Given the description of an element on the screen output the (x, y) to click on. 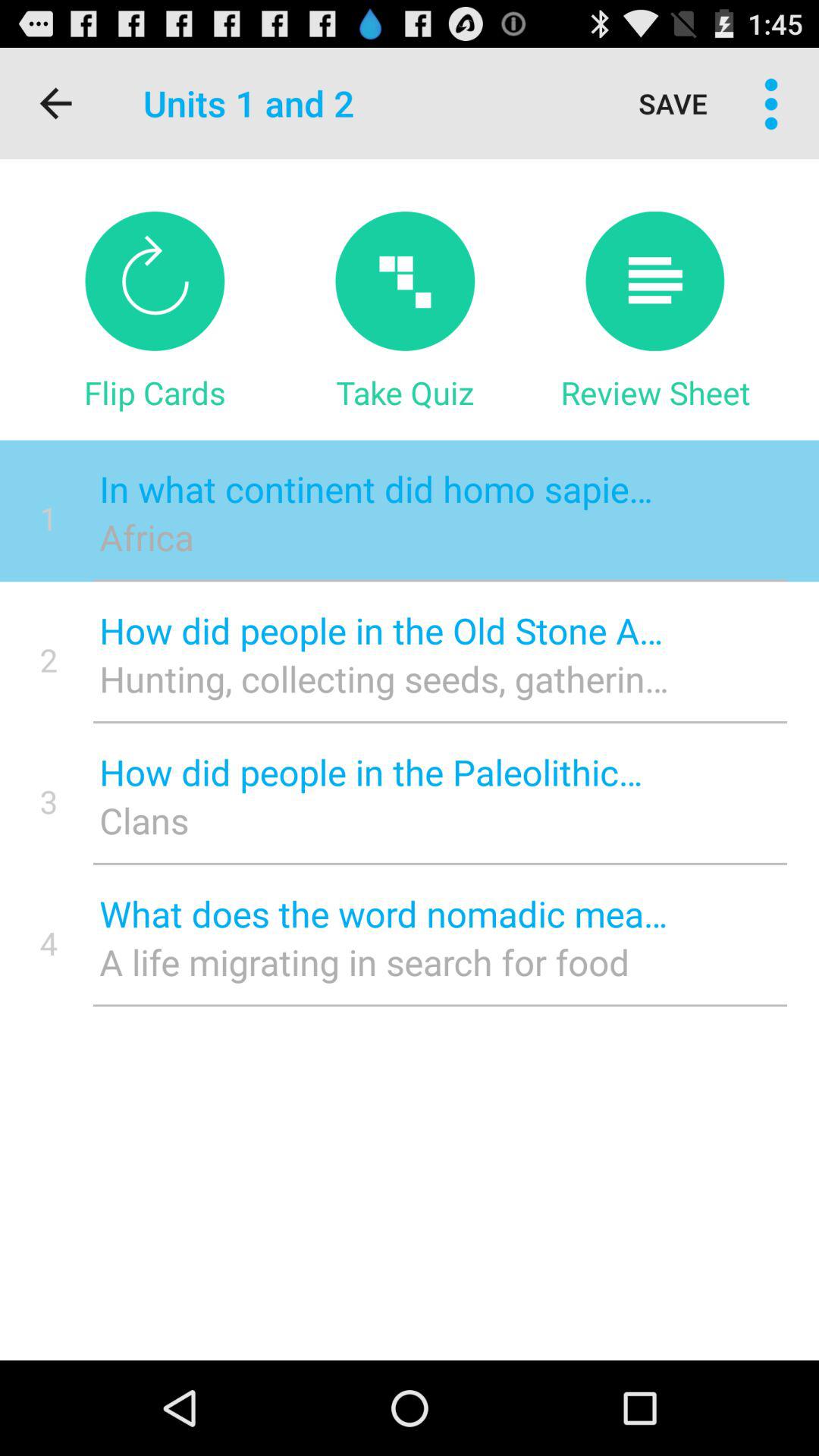
select icon below 3 icon (48, 942)
